Given the description of an element on the screen output the (x, y) to click on. 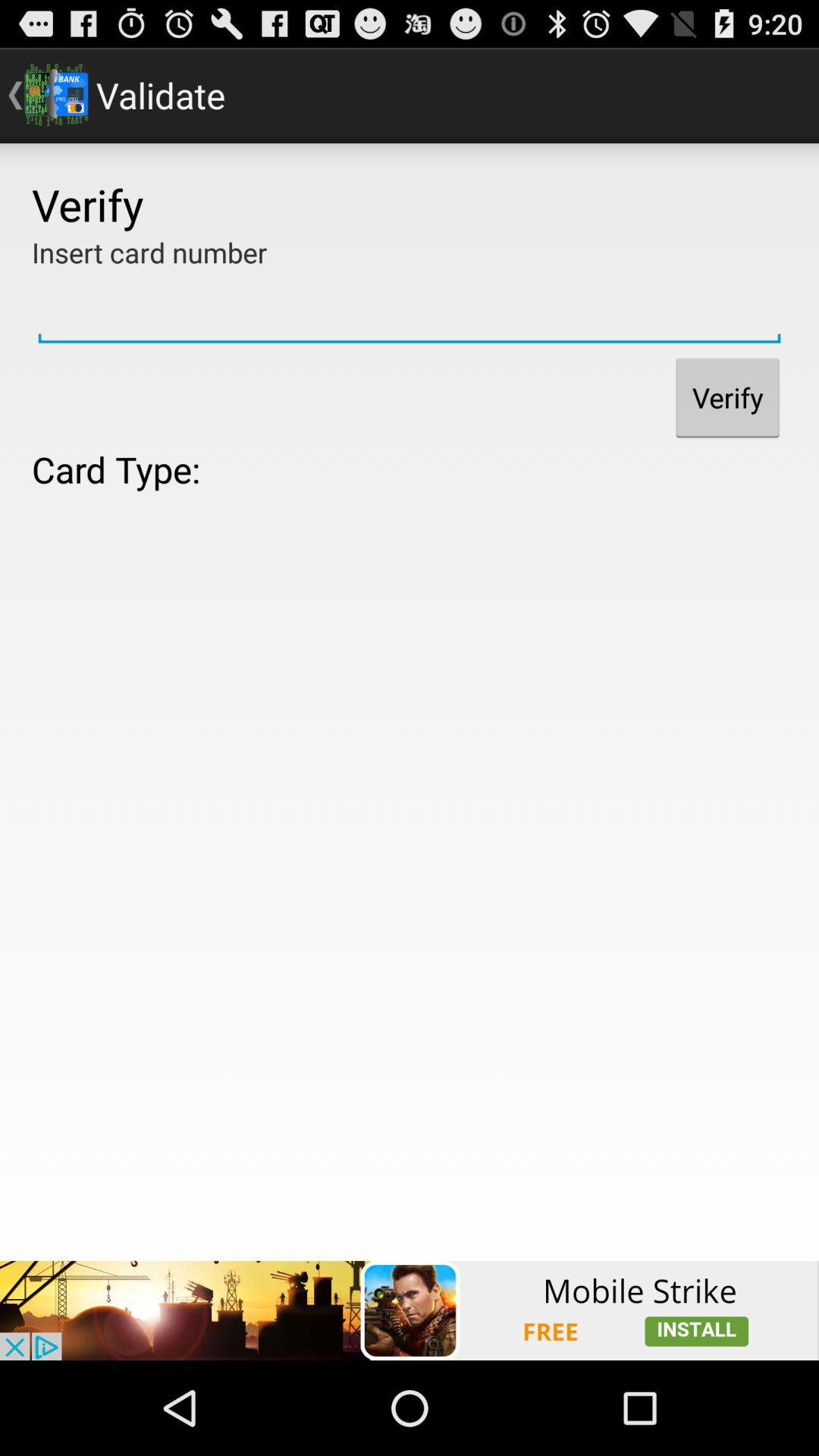
insert card number (409, 310)
